Given the description of an element on the screen output the (x, y) to click on. 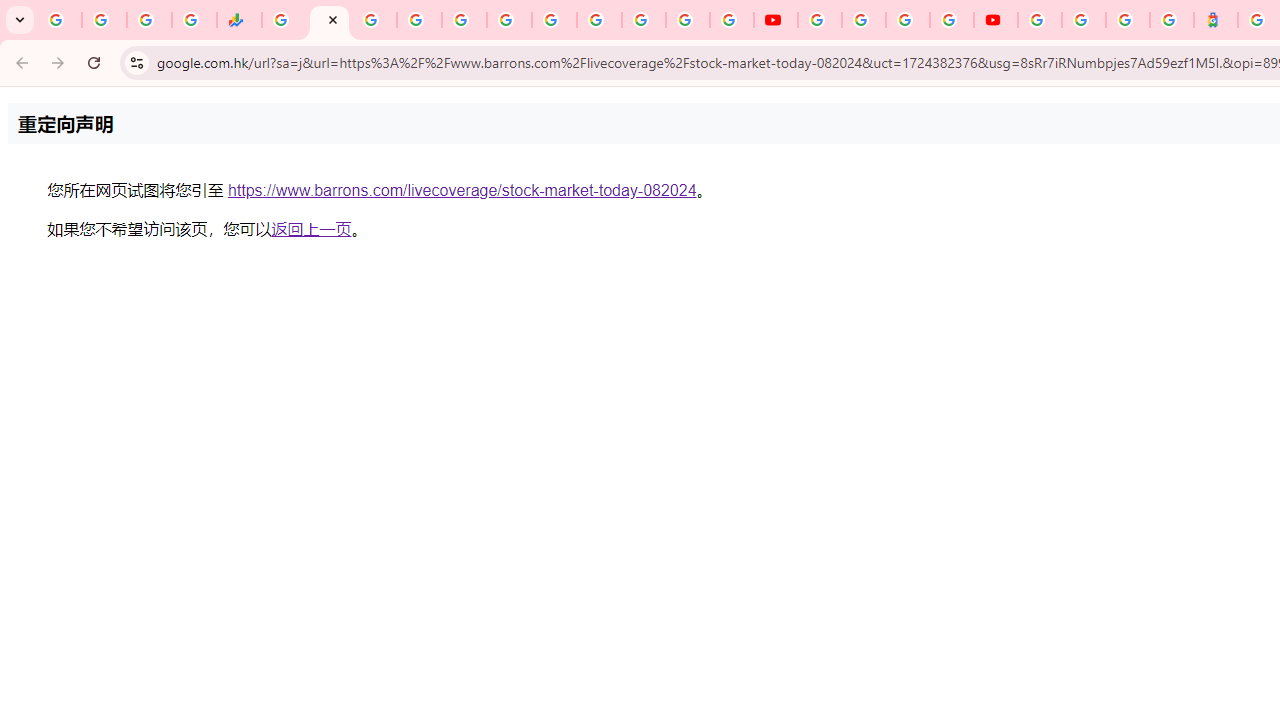
Sign in - Google Accounts (1039, 20)
Google Account Help (863, 20)
Sign in - Google Accounts (418, 20)
YouTube (819, 20)
Content Creator Programs & Opportunities - YouTube Creators (995, 20)
Sign in - Google Accounts (1083, 20)
